Given the description of an element on the screen output the (x, y) to click on. 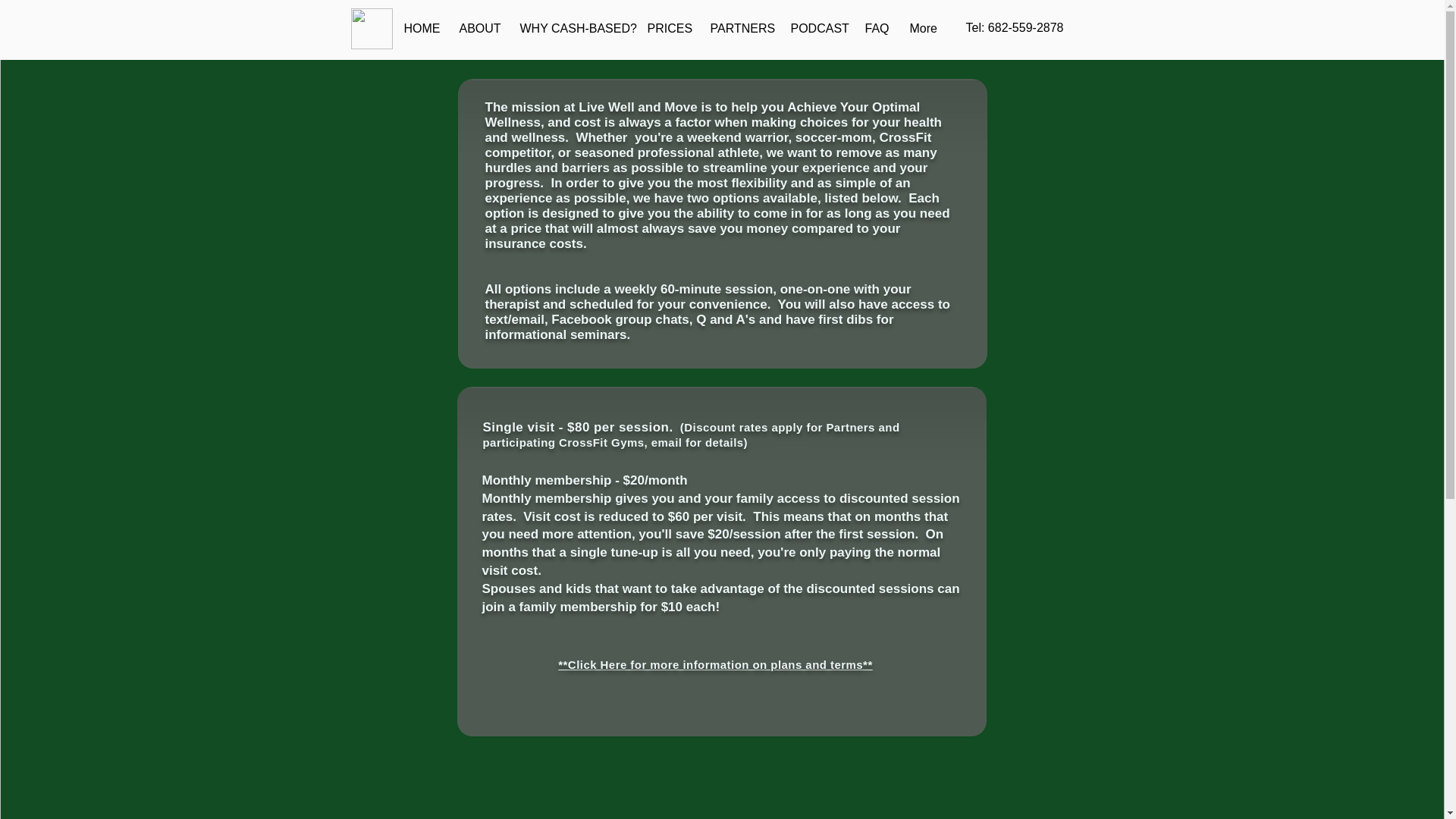
FAQ (875, 28)
PRICES (666, 28)
PARTNERS (738, 28)
HOME (420, 28)
PODCAST (815, 28)
WHY CASH-BASED? (571, 28)
ABOUT (477, 28)
